Given the description of an element on the screen output the (x, y) to click on. 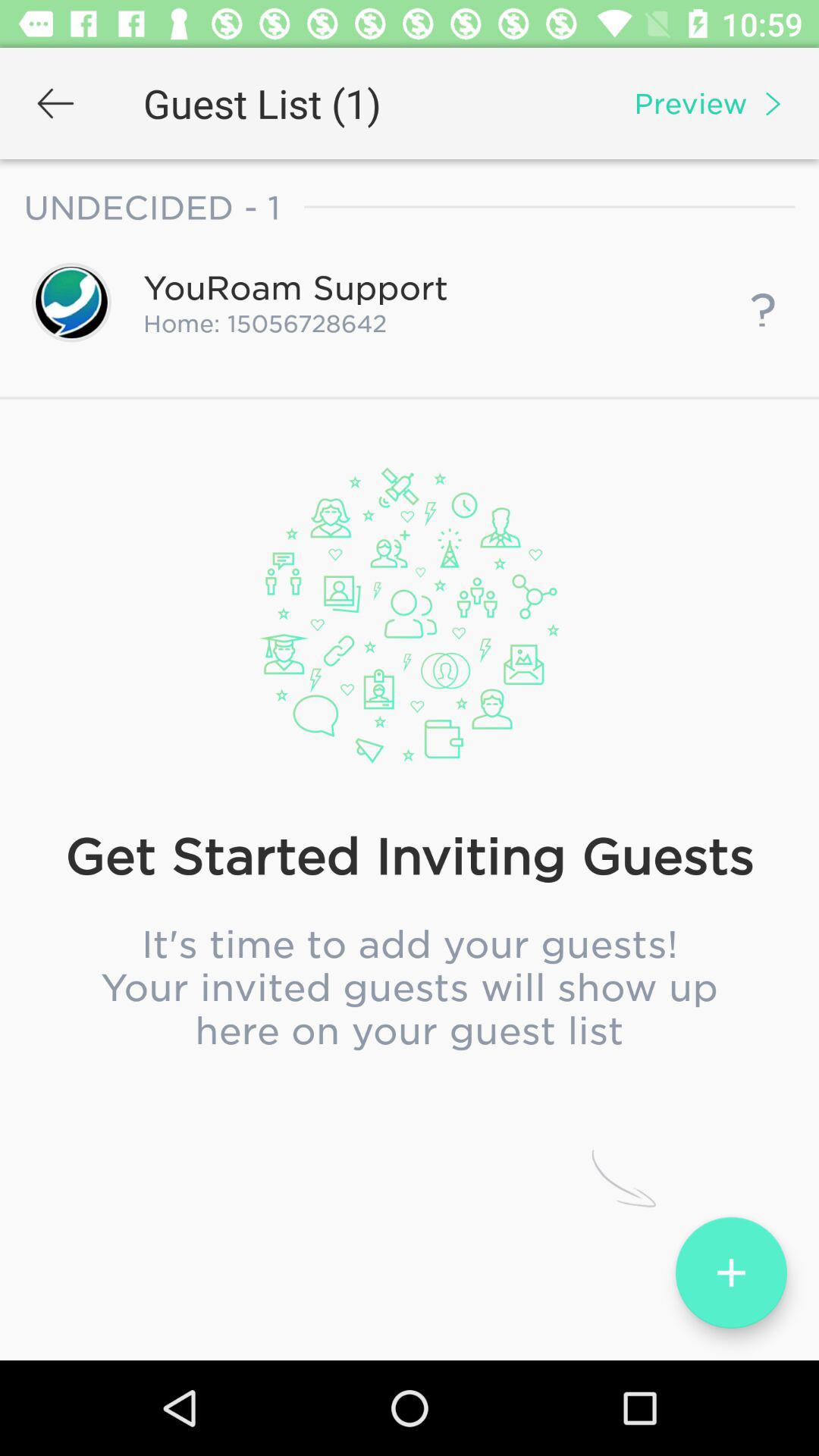
turn off icon below the optional end date icon (409, 777)
